Given the description of an element on the screen output the (x, y) to click on. 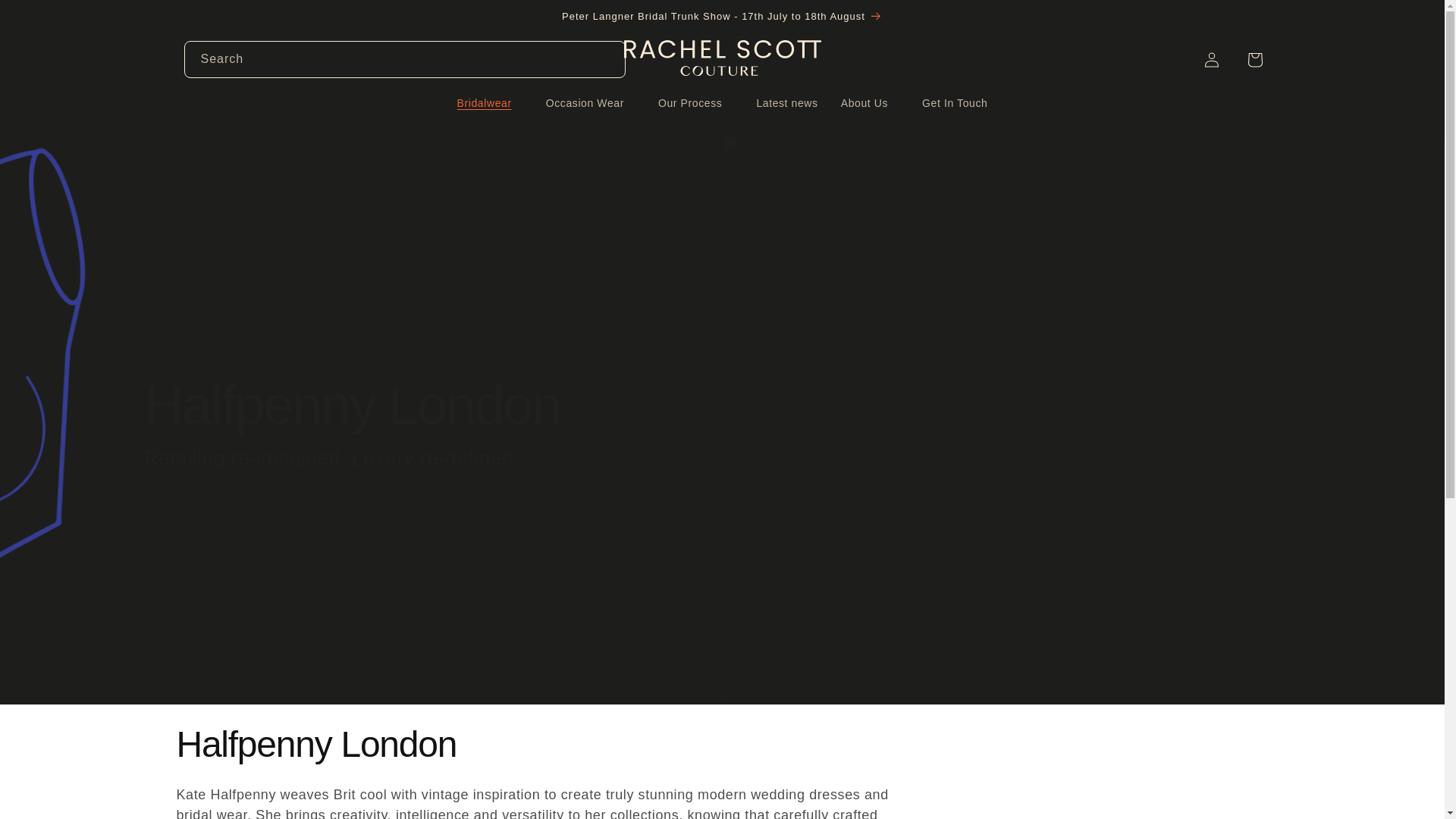
Skip to content (45, 17)
Peter Langner Bridal Trunk Show - 17th July to 18th August (722, 16)
